Given the description of an element on the screen output the (x, y) to click on. 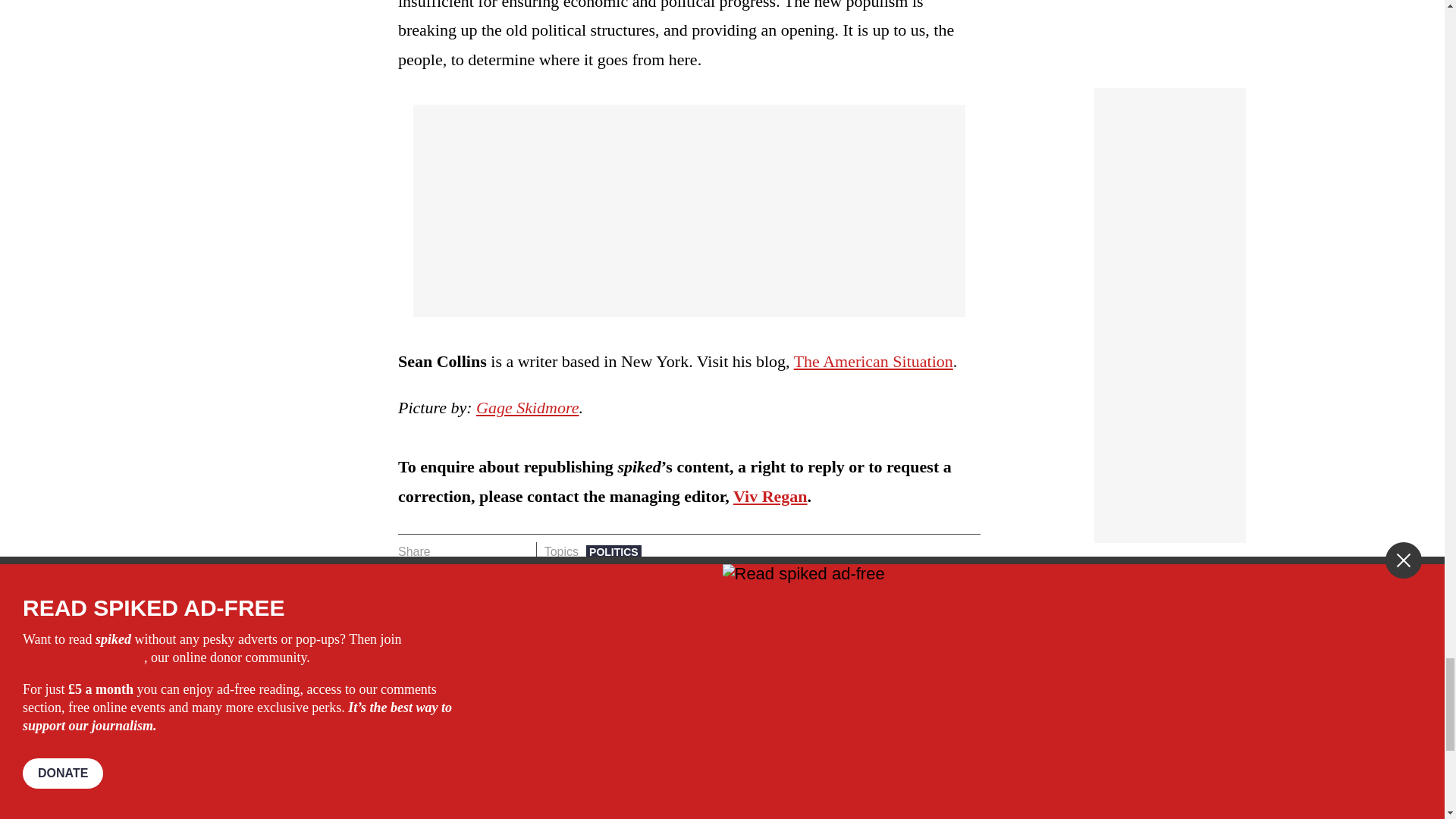
Share on Twitter (471, 551)
Share on Facebook (448, 551)
Share on Email (518, 551)
Share on Whatsapp (494, 551)
